Given the description of an element on the screen output the (x, y) to click on. 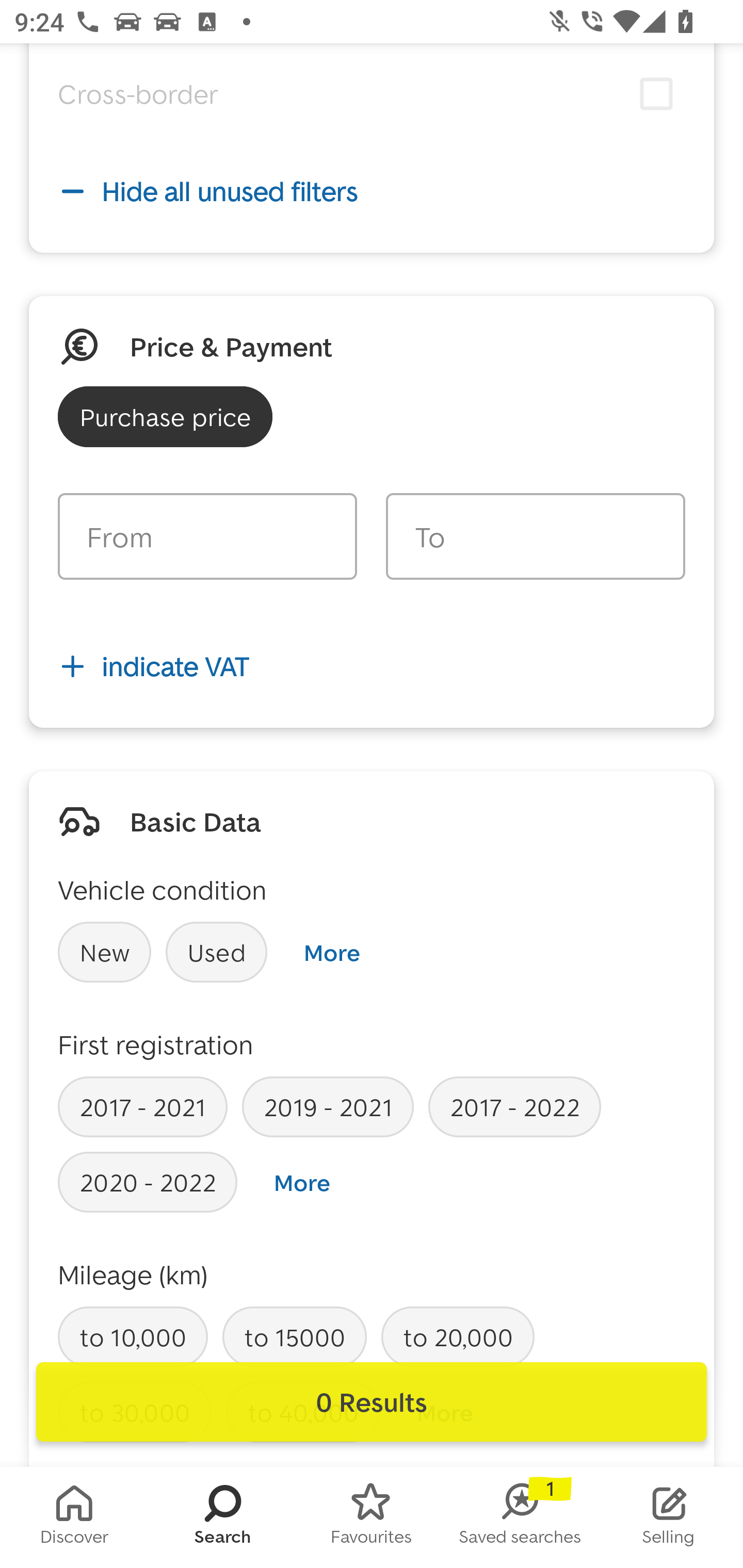
Cross-border Hide all unused filters (371, 153)
Hide all unused filters (371, 191)
Price & Payment (231, 346)
Purchase price (164, 415)
From (207, 536)
To (535, 536)
indicate VAT (371, 666)
Basic Data (195, 821)
Vehicle condition (161, 889)
New (103, 952)
Used (216, 952)
More (331, 952)
First registration (155, 1044)
2017 - 2021 (142, 1106)
2019 - 2021 (327, 1106)
2017 - 2022 (514, 1106)
2020 - 2022 (147, 1182)
More (301, 1182)
Mileage (km) (132, 1274)
to 10,000 (132, 1336)
to 15000 (294, 1336)
to 20,000 (457, 1336)
0 Results (371, 1401)
HOMESCREEN Discover (74, 1517)
SEARCH Search (222, 1517)
FAVORITES Favourites (371, 1517)
SAVED_SEARCHES Saved searches 1 (519, 1517)
STOCK_LIST Selling (668, 1517)
